Given the description of an element on the screen output the (x, y) to click on. 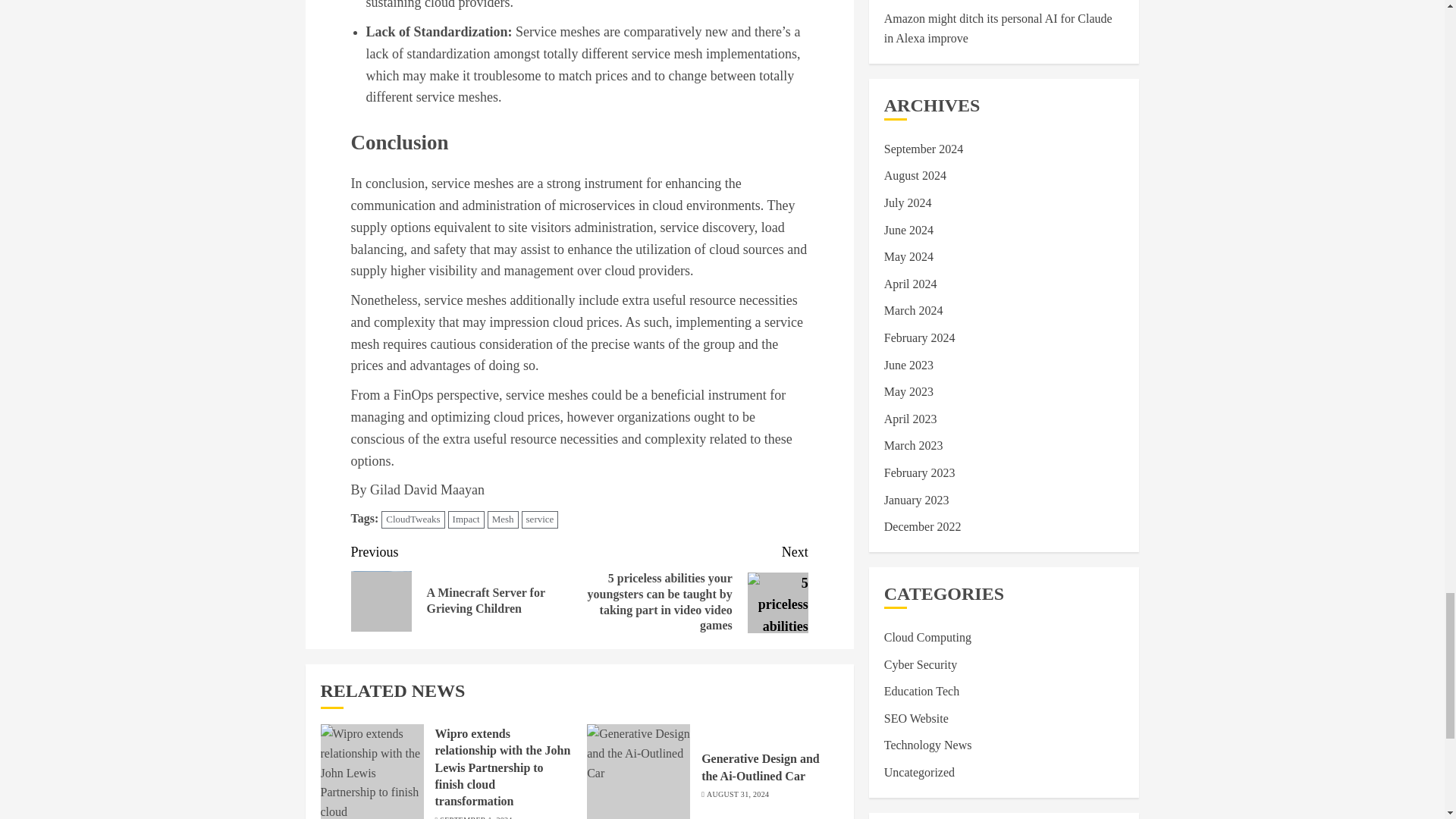
Impact (466, 519)
A Minecraft Server for Grieving Children (380, 600)
AUGUST 31, 2024 (737, 794)
Mesh (502, 519)
CloudTweaks (412, 519)
SEPTEMBER 1, 2024 (475, 816)
Generative Design and the Ai-Outlined Car (760, 767)
